Given the description of an element on the screen output the (x, y) to click on. 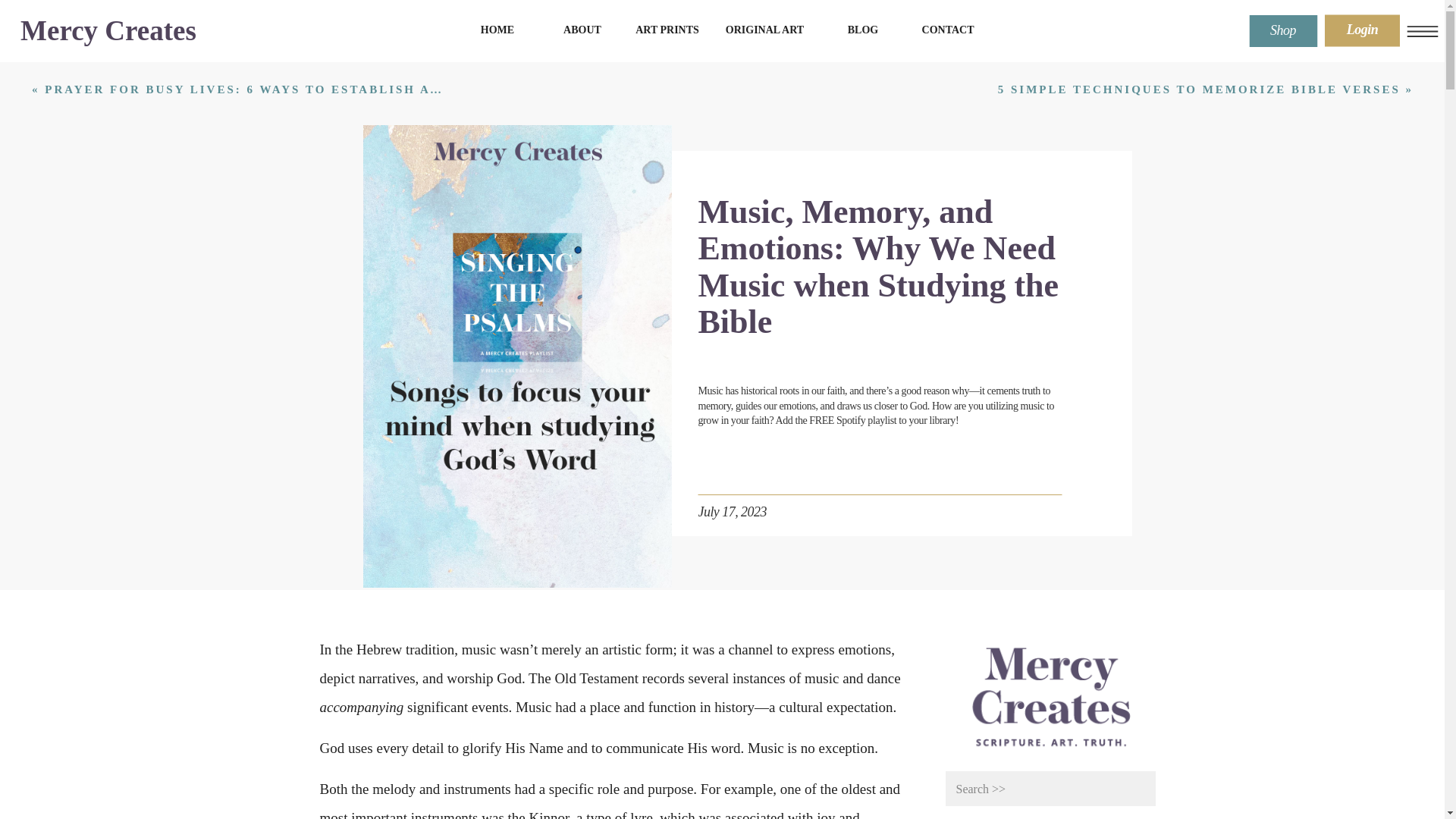
HOME (497, 29)
Mercy Creates (108, 30)
BLOG (863, 29)
Login (1361, 30)
ORIGINAL ART (763, 29)
ABOUT (583, 29)
ART PRINTS (667, 29)
Shop (1283, 30)
CONTACT (948, 29)
5 SIMPLE TECHNIQUES TO MEMORIZE BIBLE VERSES (1198, 89)
